Given the description of an element on the screen output the (x, y) to click on. 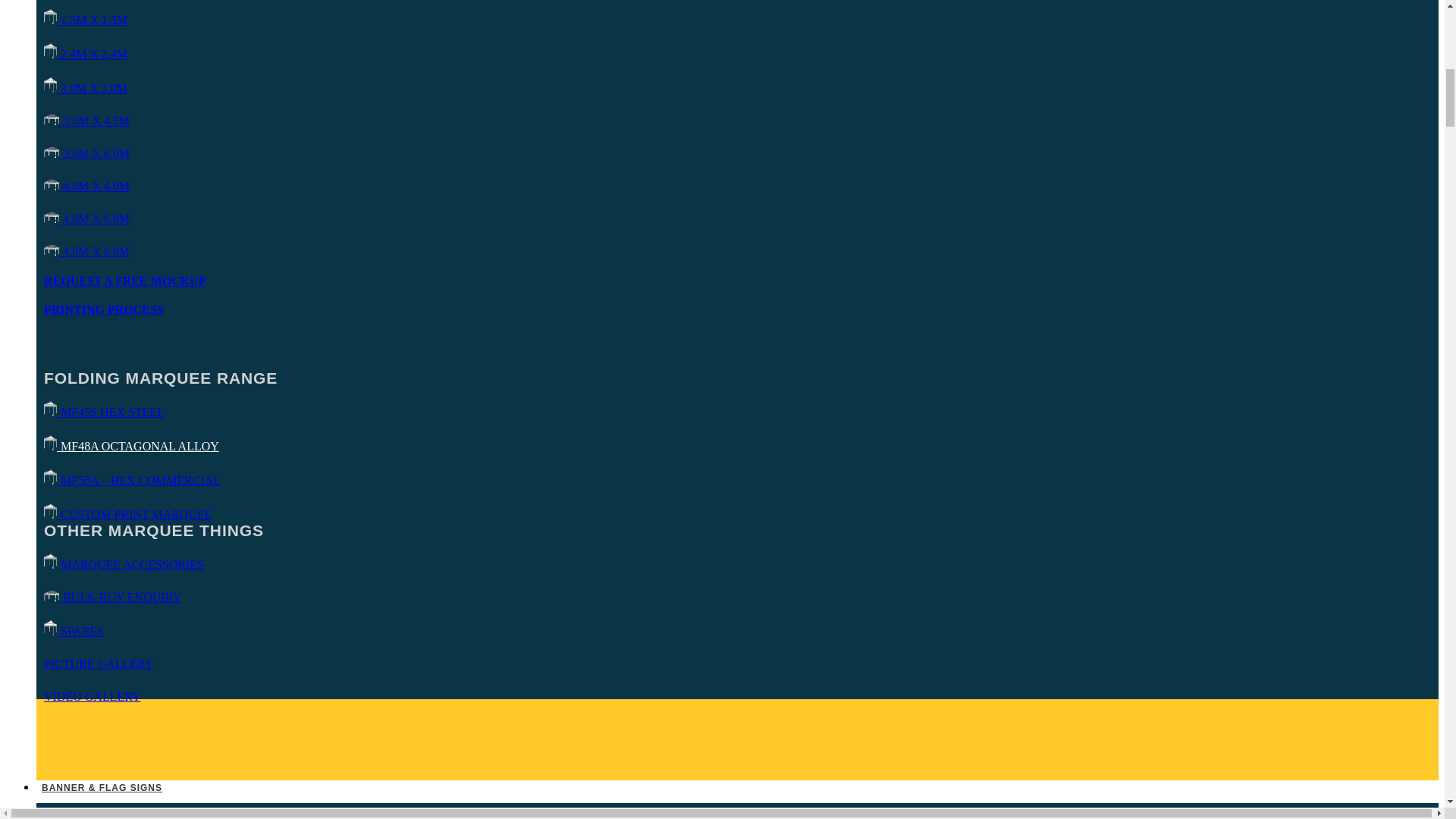
REQUEST A FREE MOCKUP (124, 280)
PRINTING PROCESS (103, 309)
VIDEO GALLERY (92, 696)
PICTURE GALLERY (97, 663)
